Given the description of an element on the screen output the (x, y) to click on. 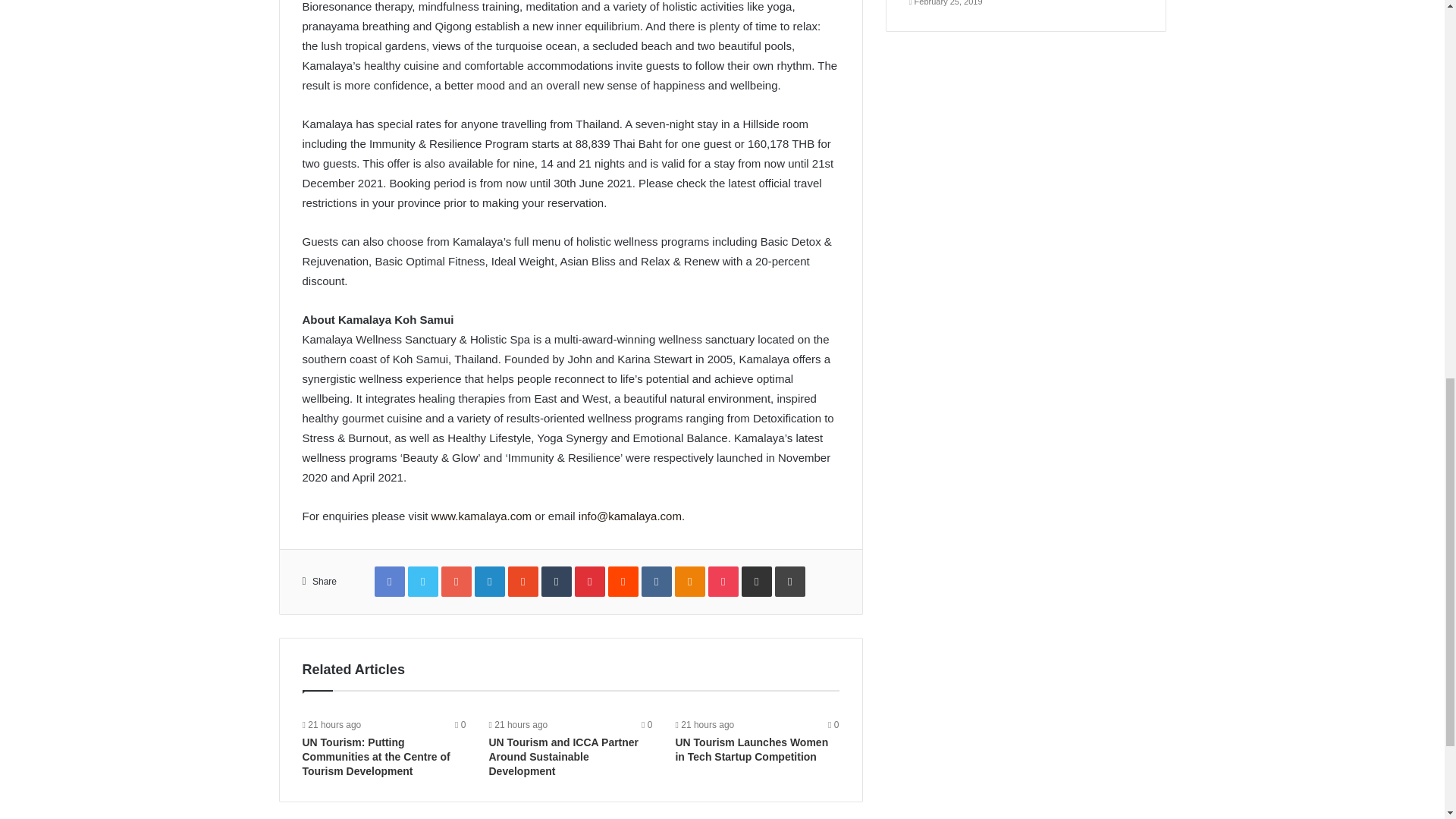
Twitter (422, 581)
Facebook (389, 581)
www.kamalaya.com (481, 515)
Tumblr (556, 581)
UN Tourism Launches Women in Tech Startup Competition (751, 749)
Pinterest (590, 581)
Print (789, 581)
Reddit (623, 581)
Odnoklassniki (689, 581)
Share via Email (756, 581)
UN Tourism and ICCA Partner Around Sustainable Development (563, 756)
UN Tourism and ICCA Partner Around Sustainable Development (563, 756)
LinkedIn (489, 581)
VKontakte (656, 581)
StumbleUpon (523, 581)
